Given the description of an element on the screen output the (x, y) to click on. 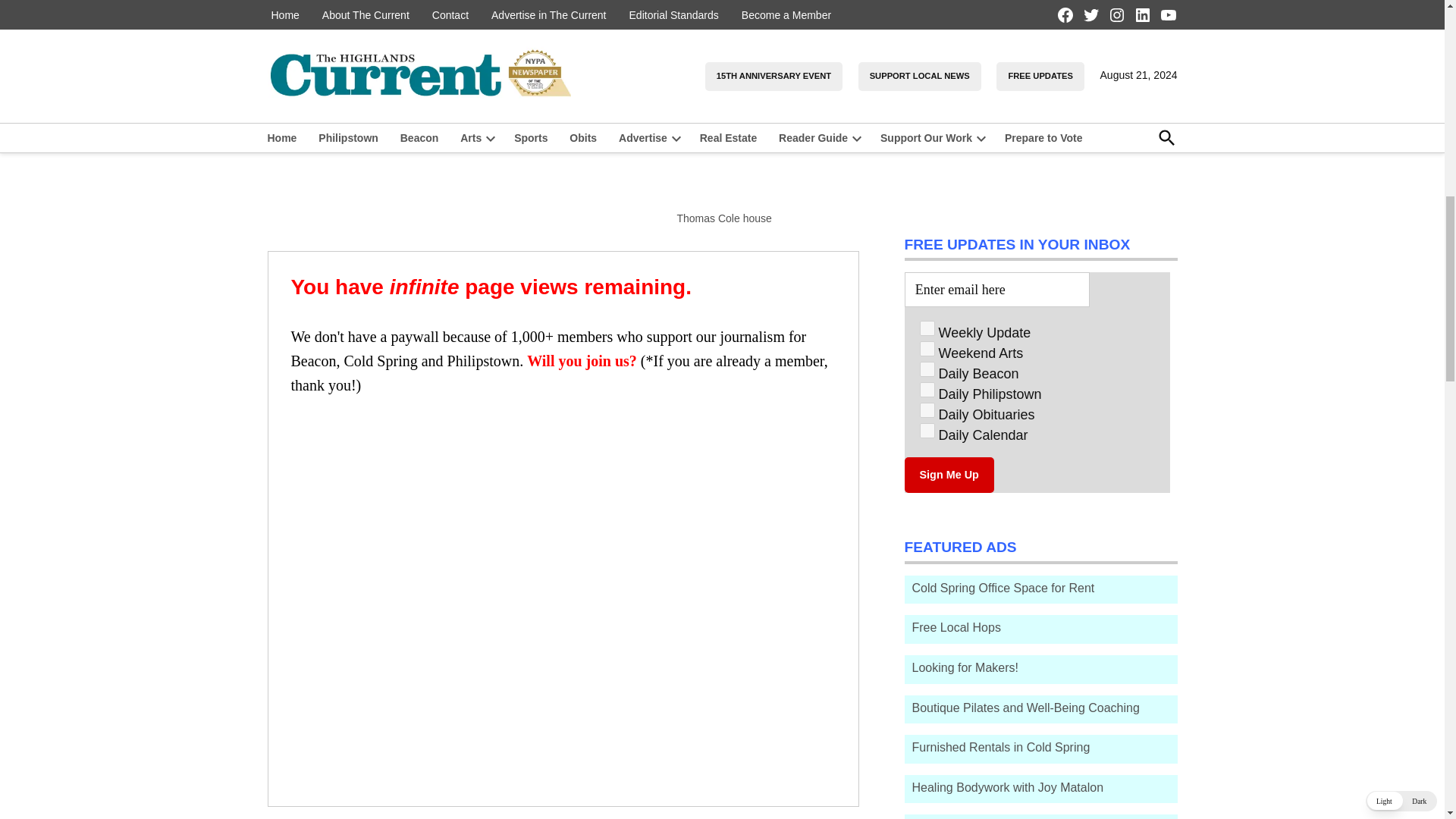
By the Numbers: Growth Factors (1044, 9)
5 Questions: Raymond Chen (936, 76)
Enter email here (996, 288)
5 Questions: Raymond Chen (1057, 65)
By the Numbers: Growth Factors (936, 7)
Sign Me Up (948, 475)
